Given the description of an element on the screen output the (x, y) to click on. 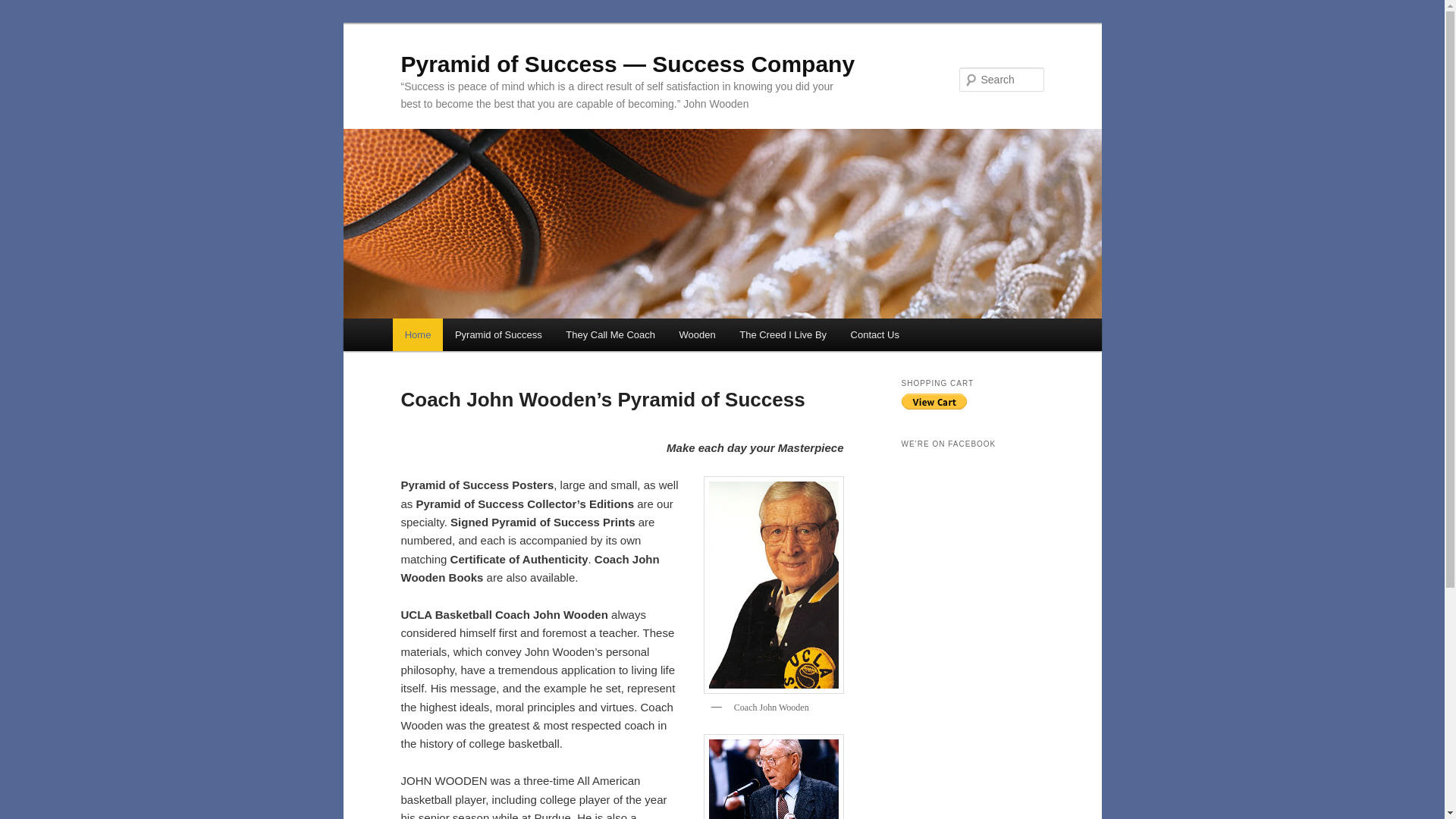
Pyramid of Success (497, 334)
They Call Me Coach (609, 334)
The Creed I Live By (782, 334)
Contact Us (874, 334)
Home (417, 334)
Search (24, 8)
Wooden (697, 334)
